Given the description of an element on the screen output the (x, y) to click on. 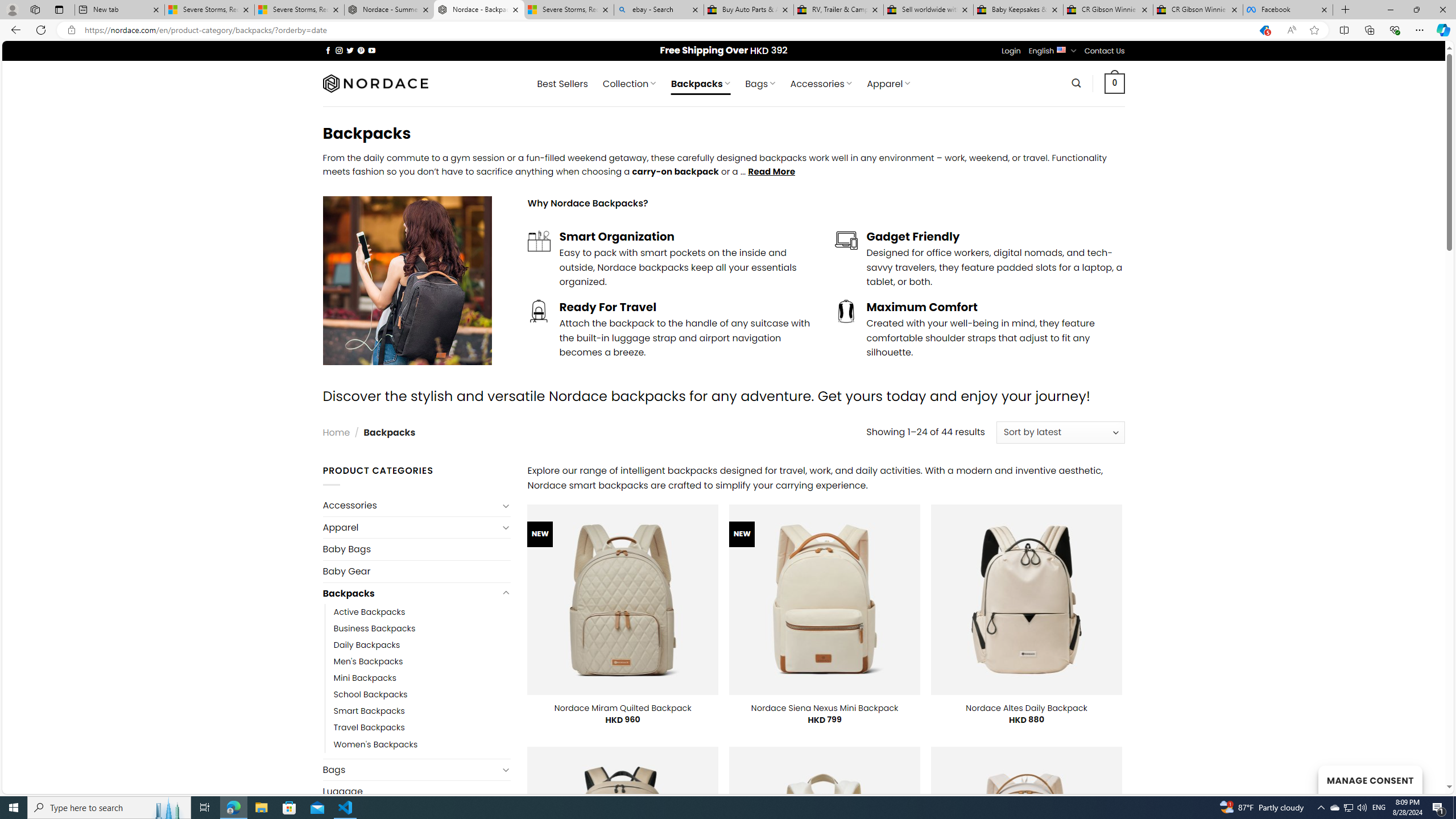
RV, Trailer & Camper Steps & Ladders for sale | eBay (838, 9)
Smart Backpacks (368, 710)
Follow on Pinterest (360, 49)
Women's Backpacks (422, 744)
Men's Backpacks (422, 661)
Nordace - Backpacks (478, 9)
